Given the description of an element on the screen output the (x, y) to click on. 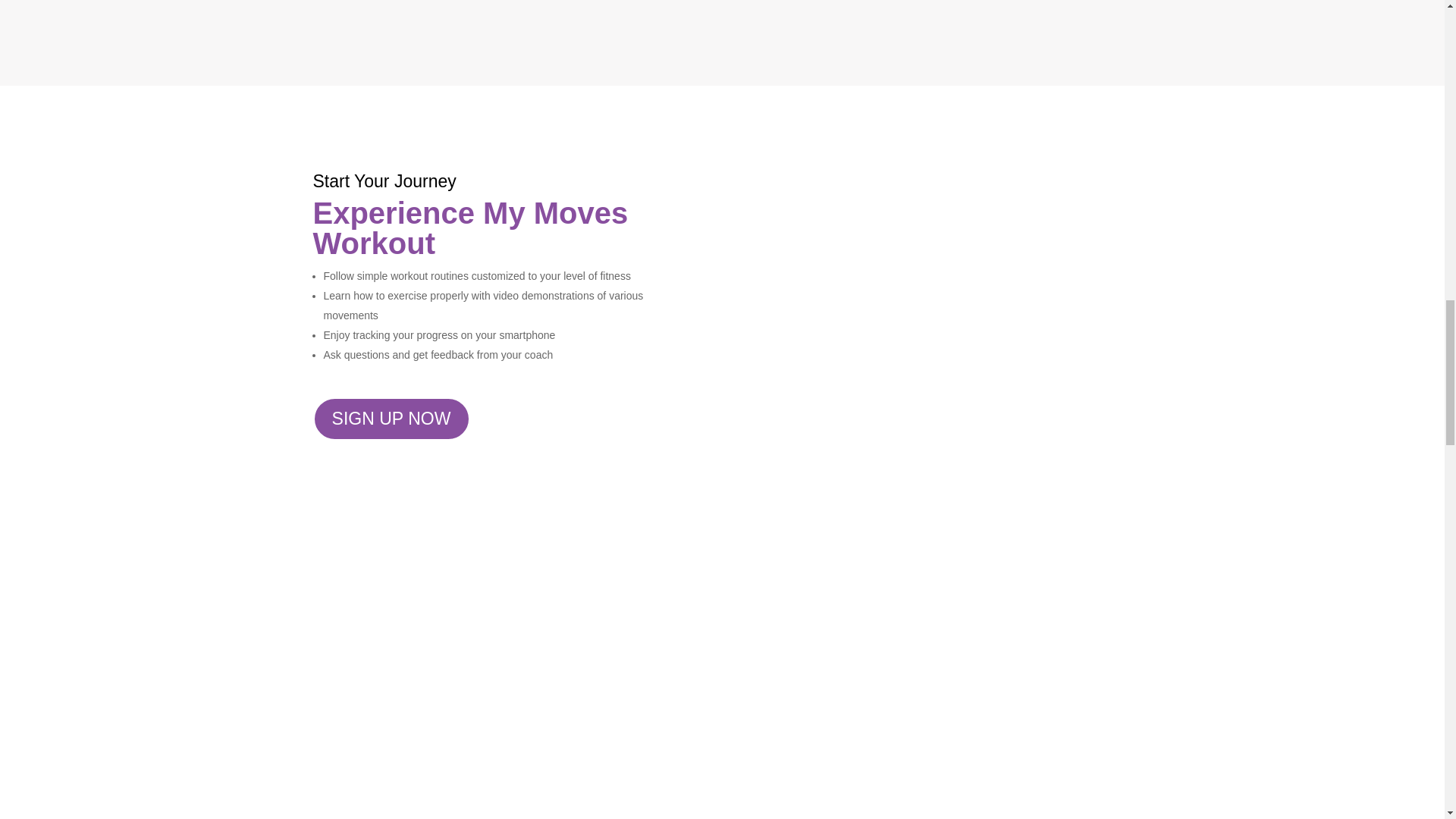
YouTube player (722, 762)
